Given the description of an element on the screen output the (x, y) to click on. 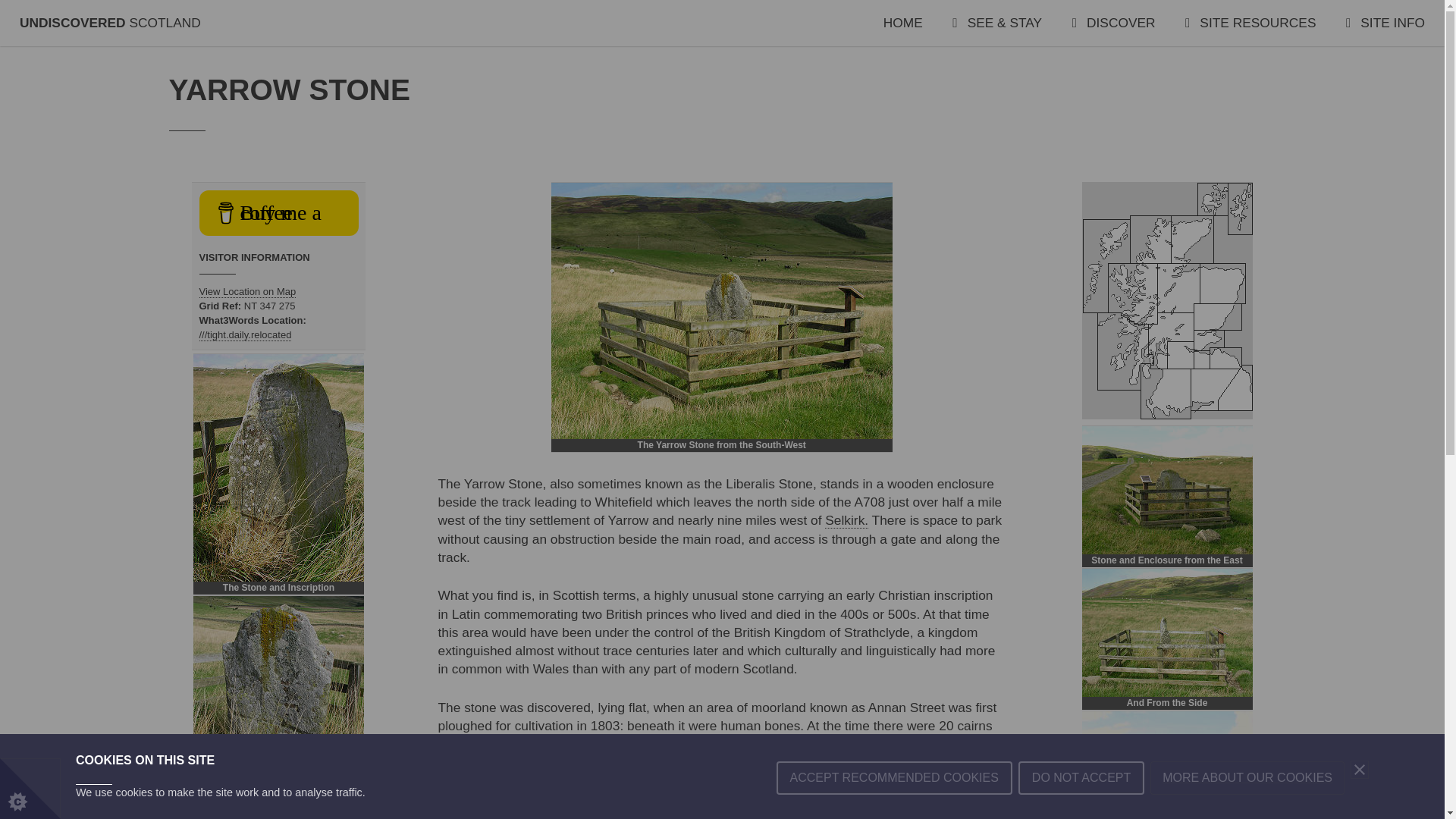
DISCOVER (1113, 22)
DO NOT ACCEPT (1080, 802)
ACCEPT RECOMMENDED COOKIES (893, 805)
MORE ABOUT OUR COOKIES (1246, 794)
SITE RESOURCES (1250, 22)
UNDISCOVERED SCOTLAND (110, 22)
HOME (903, 22)
